Given the description of an element on the screen output the (x, y) to click on. 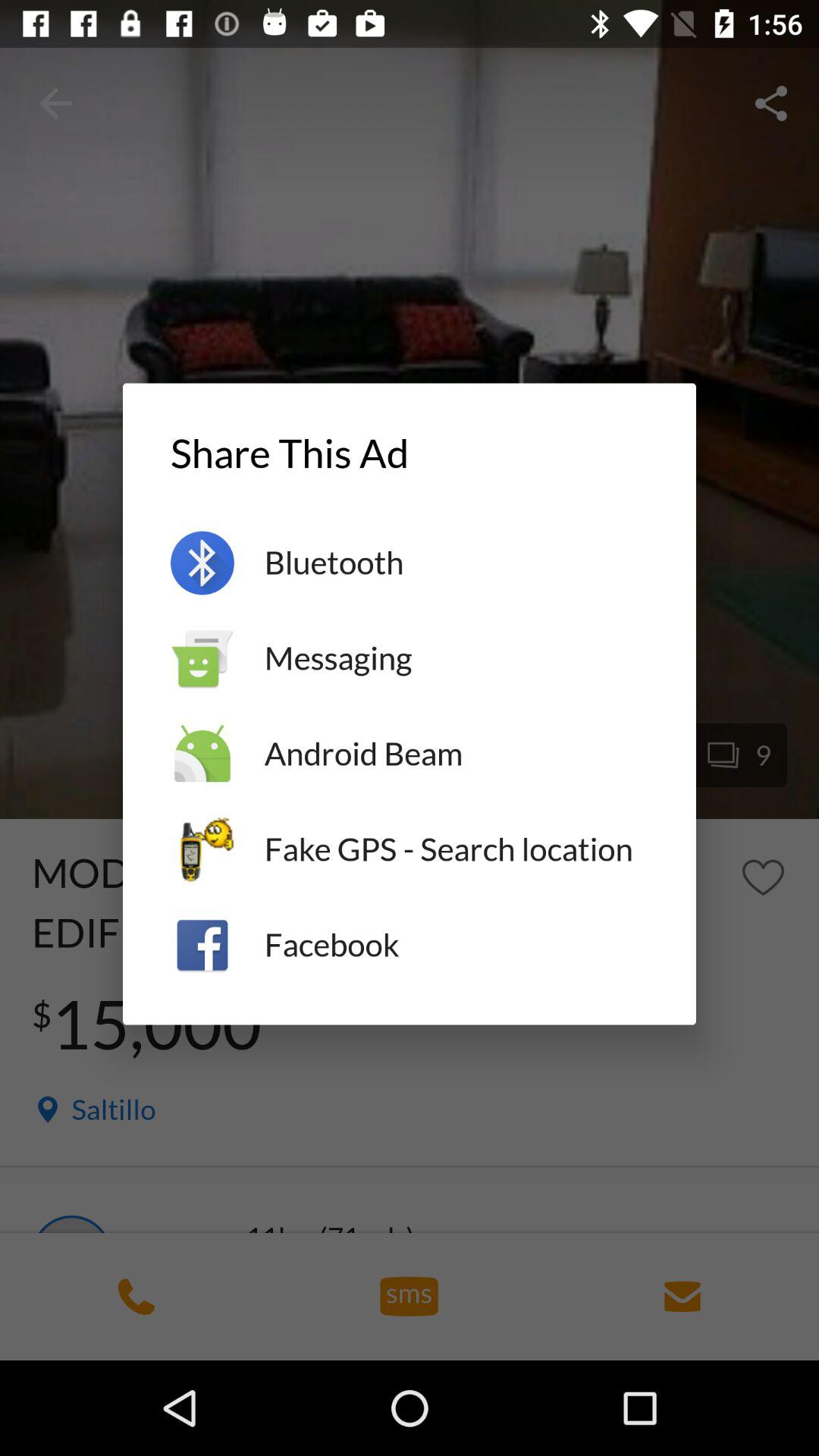
flip until the fake gps search item (456, 849)
